Given the description of an element on the screen output the (x, y) to click on. 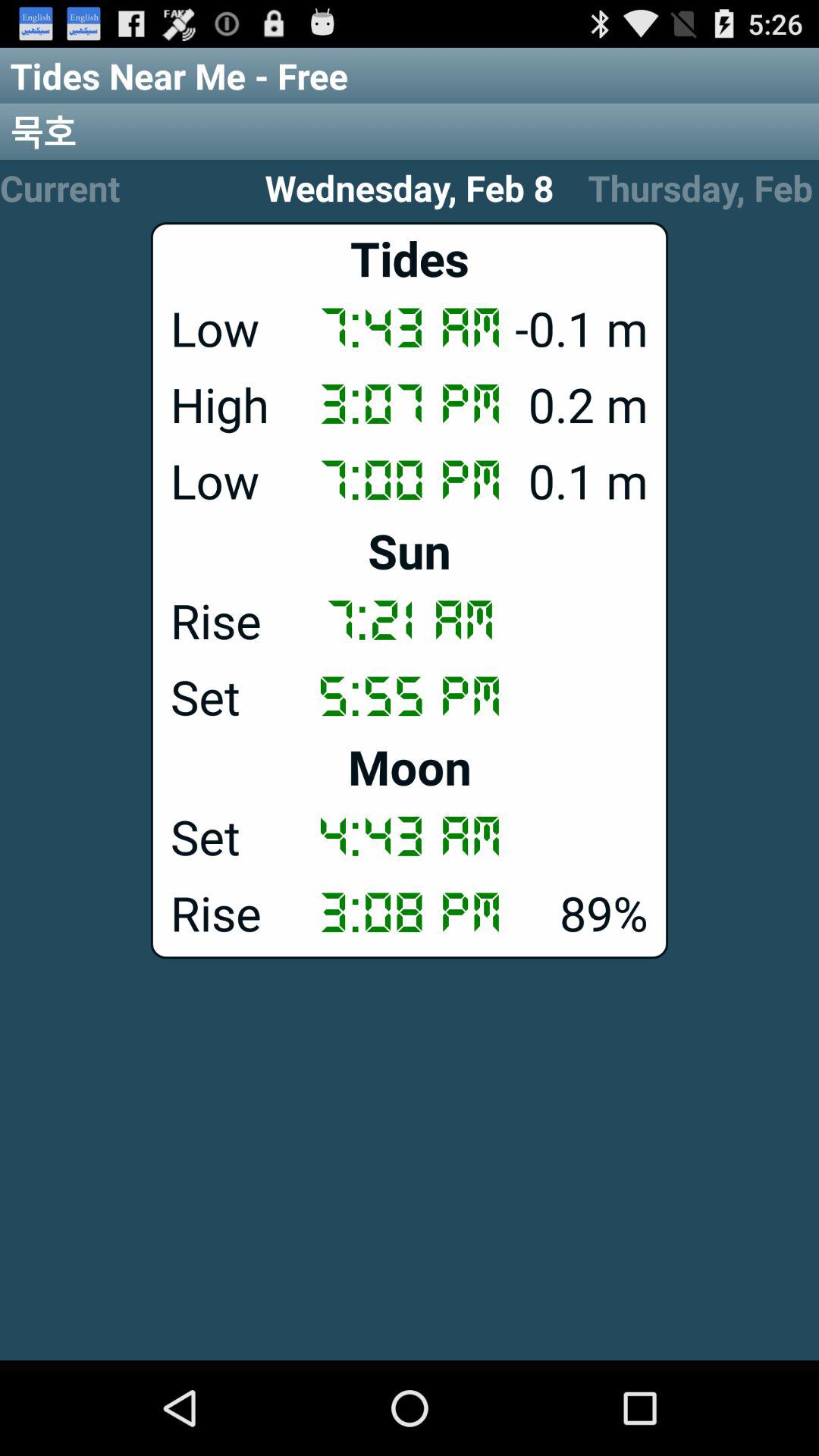
jump until the 89% app (409, 912)
